Given the description of an element on the screen output the (x, y) to click on. 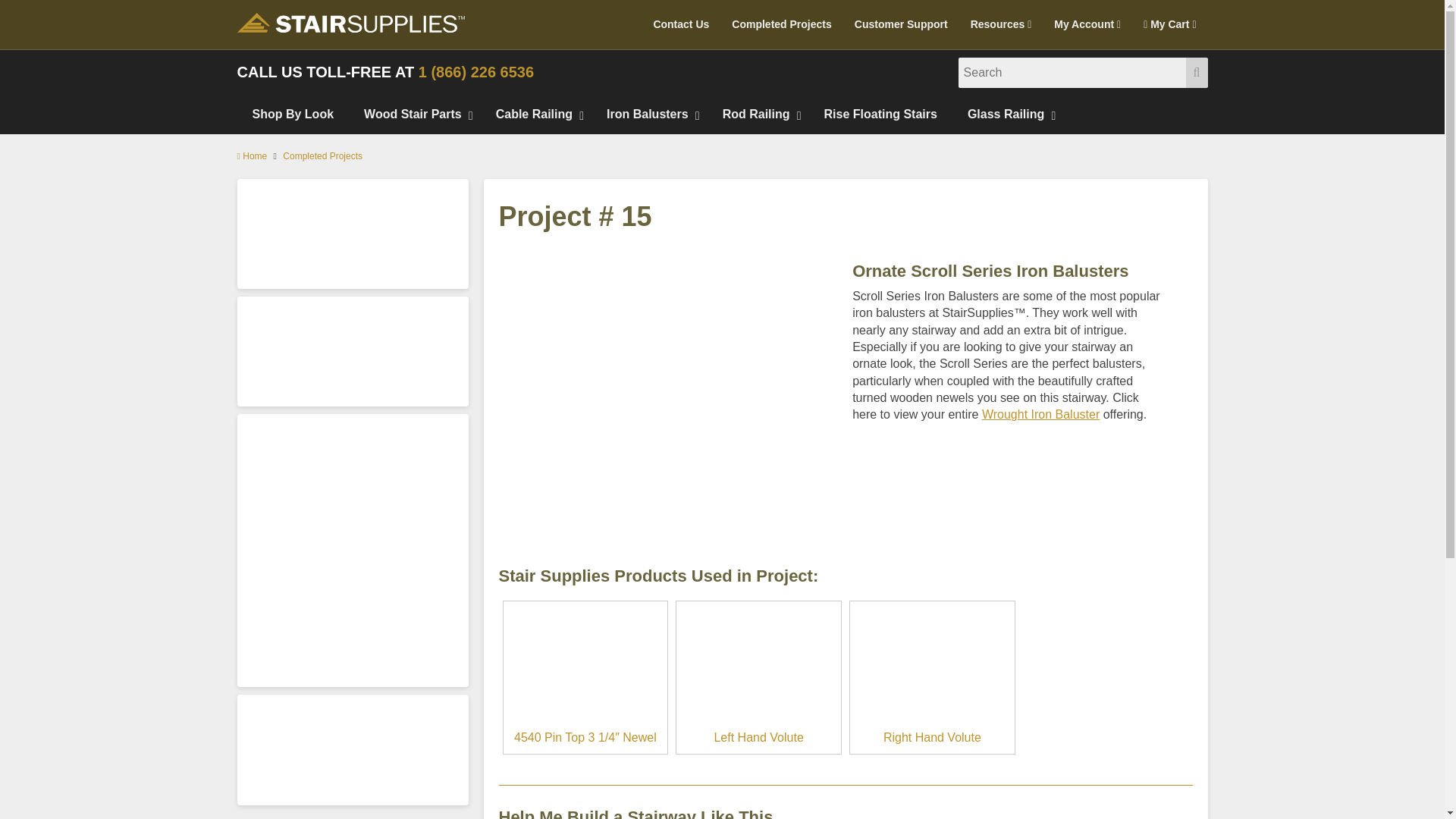
Iron Balusters (649, 114)
Completed Projects (781, 23)
Customer Support (901, 23)
Rod Railing (758, 114)
Ornate Scroll Series Iron Balusters (668, 379)
Completed Projects (781, 23)
Resources (1001, 24)
Home (250, 155)
Contact Us (681, 23)
Rise Floating Stairs (880, 114)
Wood Stair Parts (414, 114)
Shop By Look (292, 114)
Search for: (1072, 72)
Cable Railing (535, 114)
Resources (1001, 24)
